Given the description of an element on the screen output the (x, y) to click on. 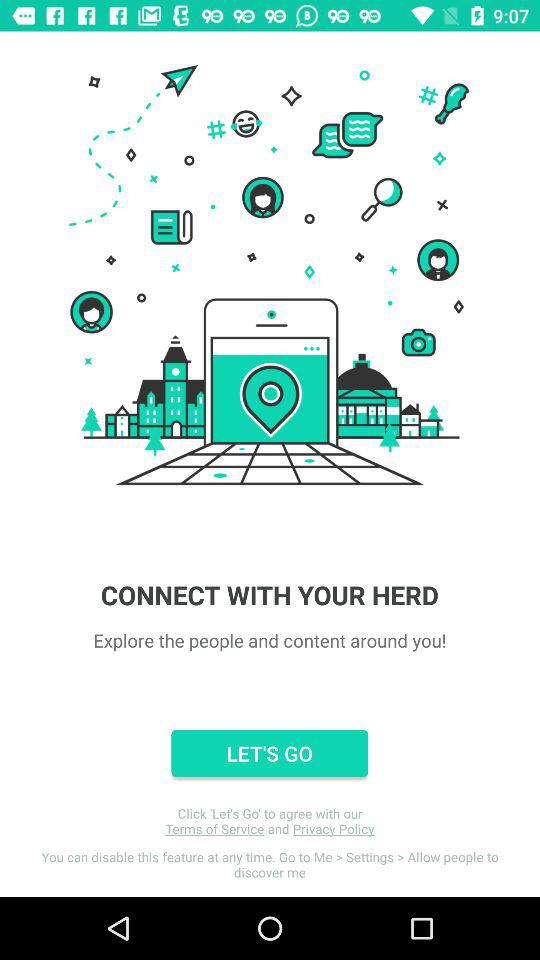
turn off the click let s (269, 821)
